Given the description of an element on the screen output the (x, y) to click on. 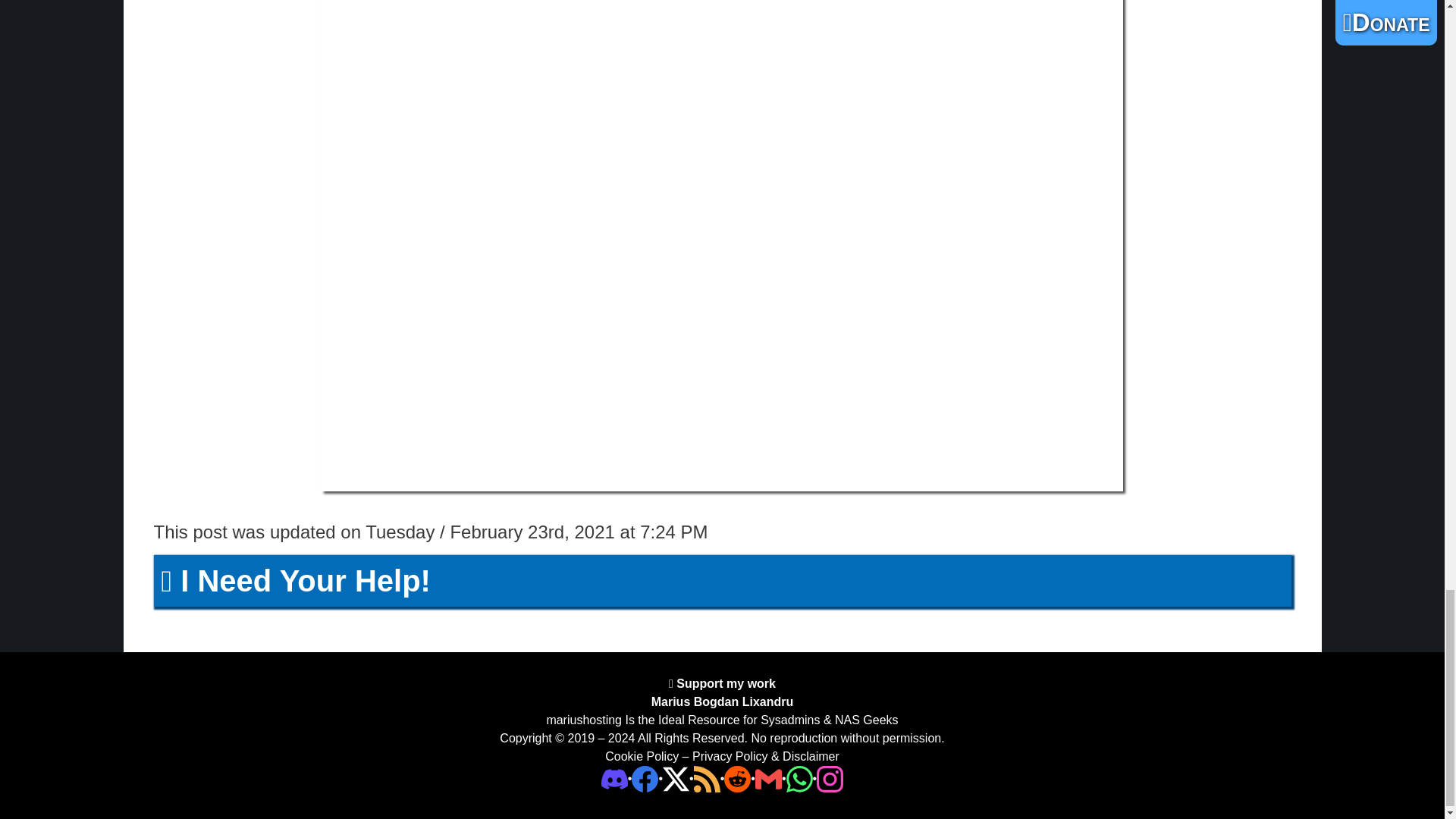
Cookie Policy (641, 756)
 Support my work (724, 683)
Marius Bogdan Lixandru (721, 701)
